Given the description of an element on the screen output the (x, y) to click on. 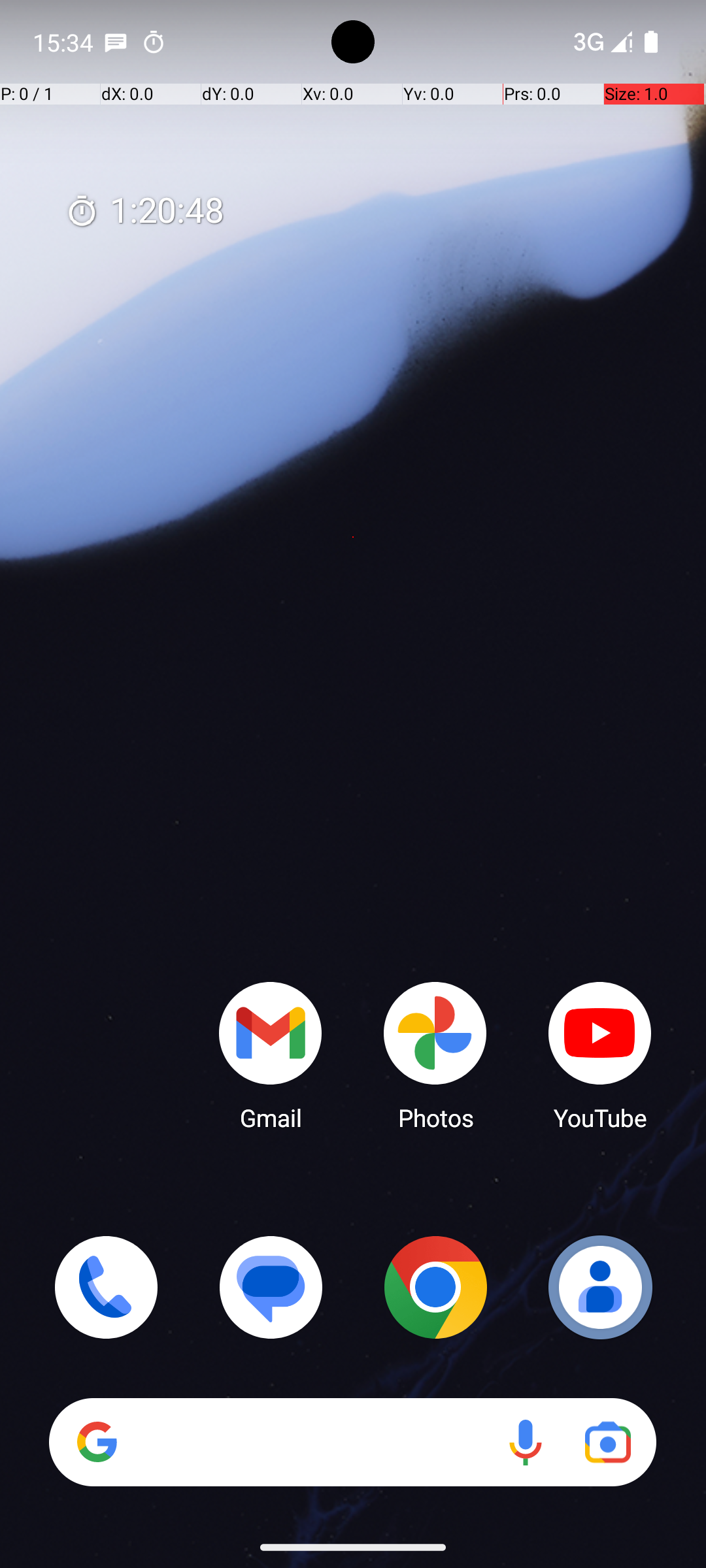
1:20:48 Element type: android.widget.TextView (144, 210)
SMS Messenger notification: Freya Hernandez Element type: android.widget.ImageView (115, 41)
